Given the description of an element on the screen output the (x, y) to click on. 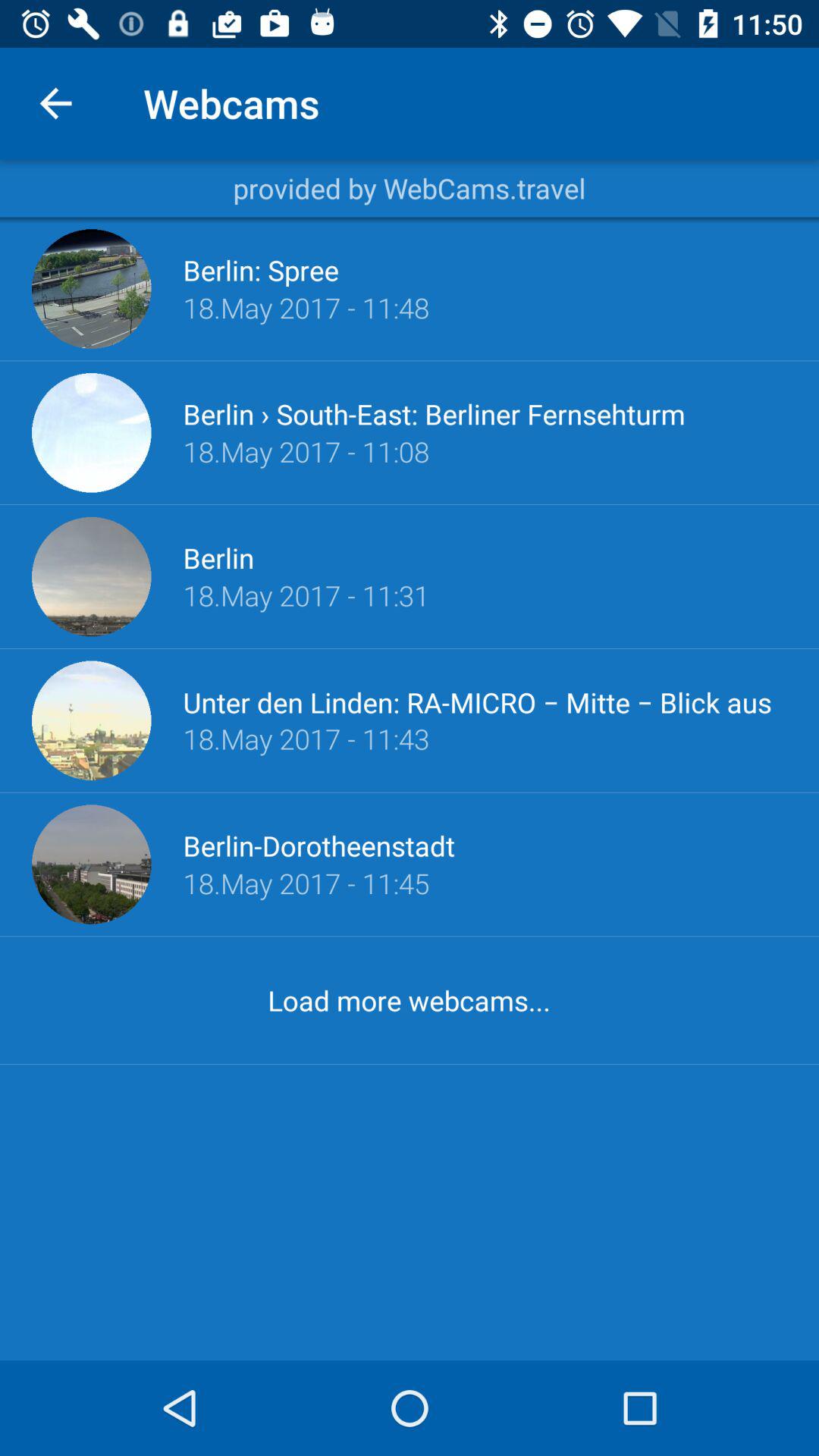
launch icon above provided by webcams (55, 103)
